Given the description of an element on the screen output the (x, y) to click on. 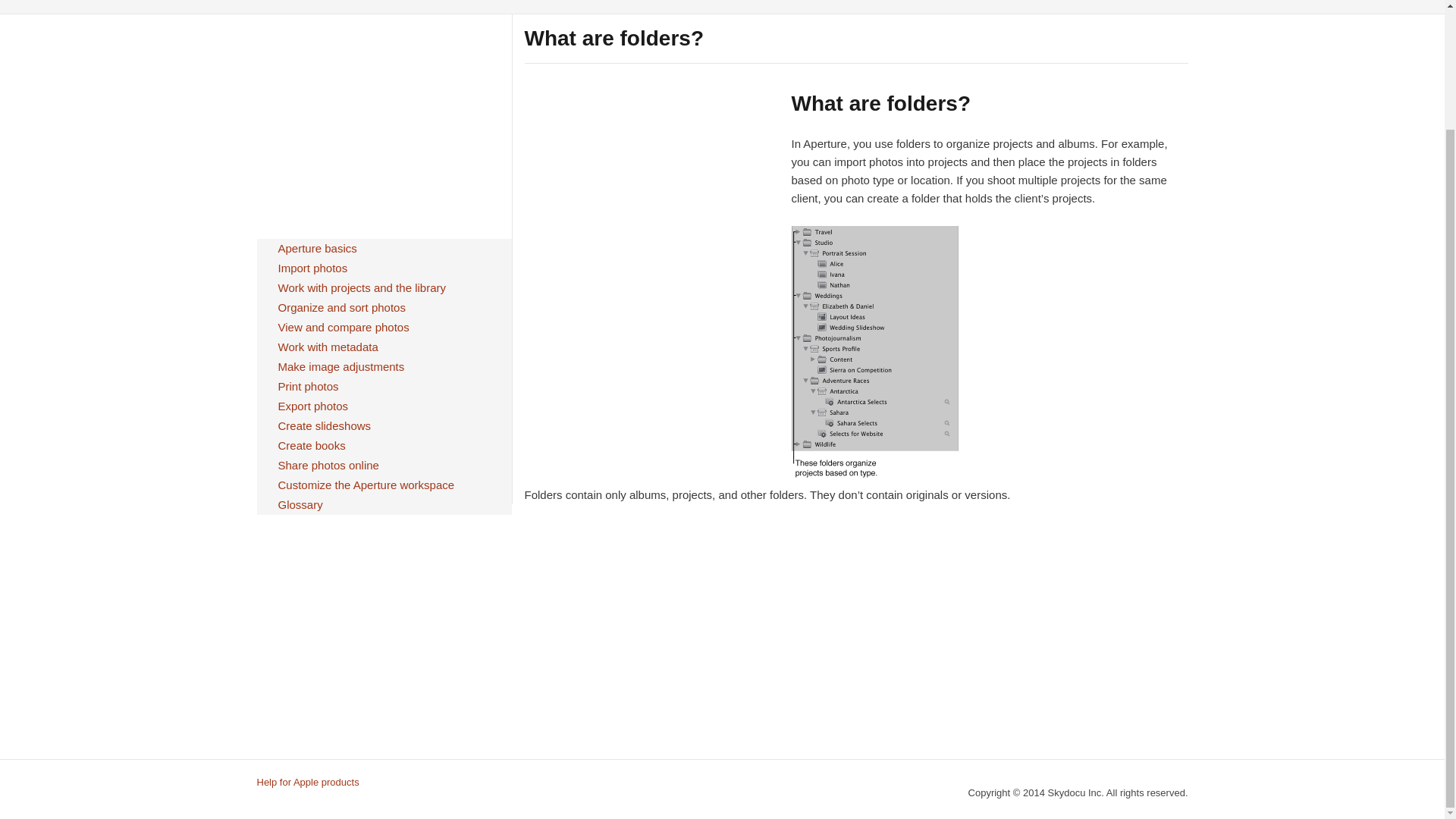
Advertisement (651, 640)
Advertisement (651, 196)
Aperture basics (317, 248)
Advertisement (383, 120)
Import photos (312, 268)
